Given the description of an element on the screen output the (x, y) to click on. 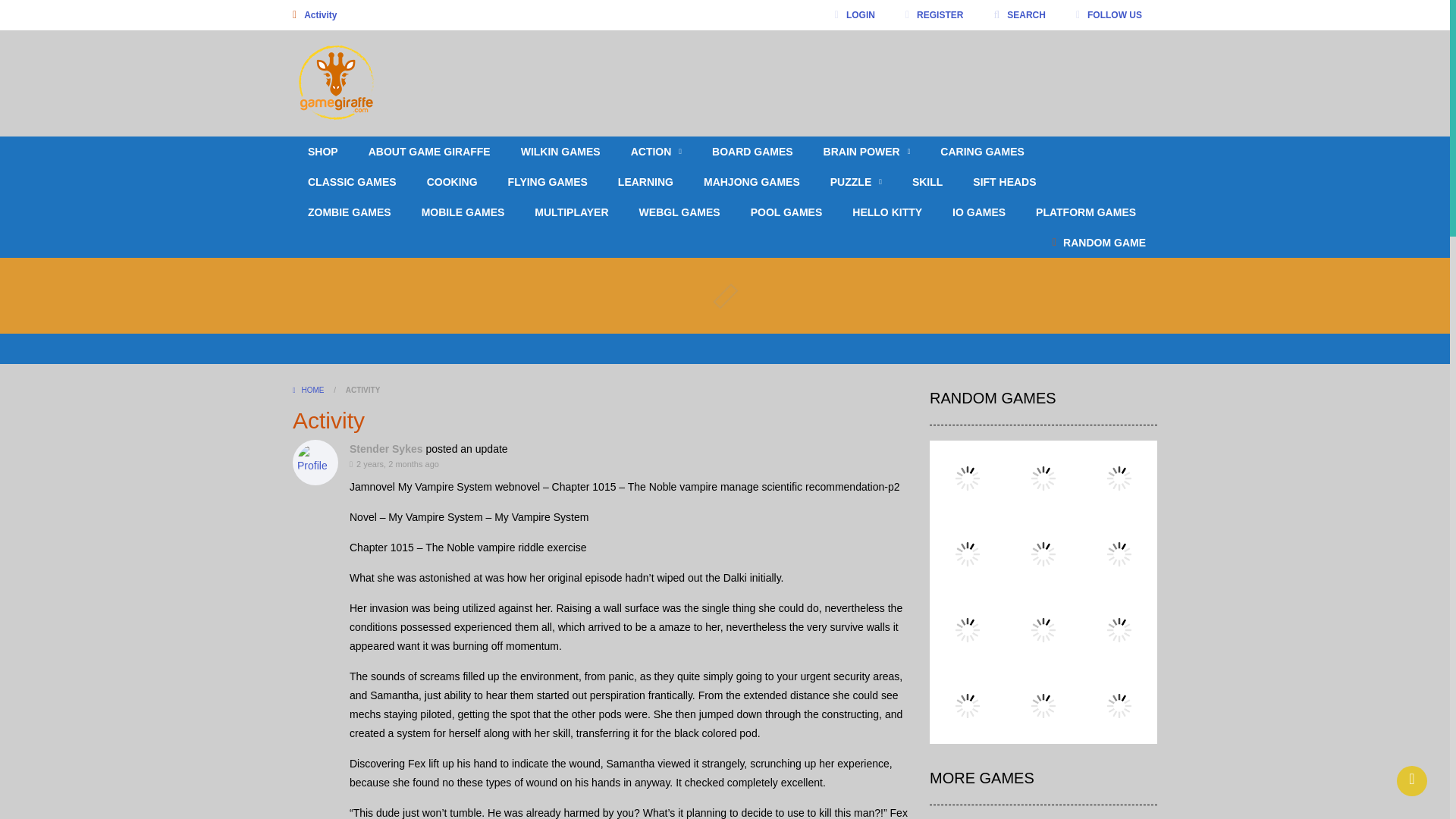
SHOP (322, 151)
CLASSIC GAMES (352, 182)
COOKING (452, 182)
MOBILE GAMES (462, 212)
Game Giraffe (405, 82)
SIFT HEADS (1004, 182)
LEARNING (645, 182)
CARING GAMES (981, 151)
BOARD GAMES (752, 151)
ZOMBIE GAMES (349, 212)
SKILL (927, 182)
REGISTER (933, 15)
BRAIN POWER (867, 151)
SEARCH (1019, 15)
ACTION (656, 151)
